Given the description of an element on the screen output the (x, y) to click on. 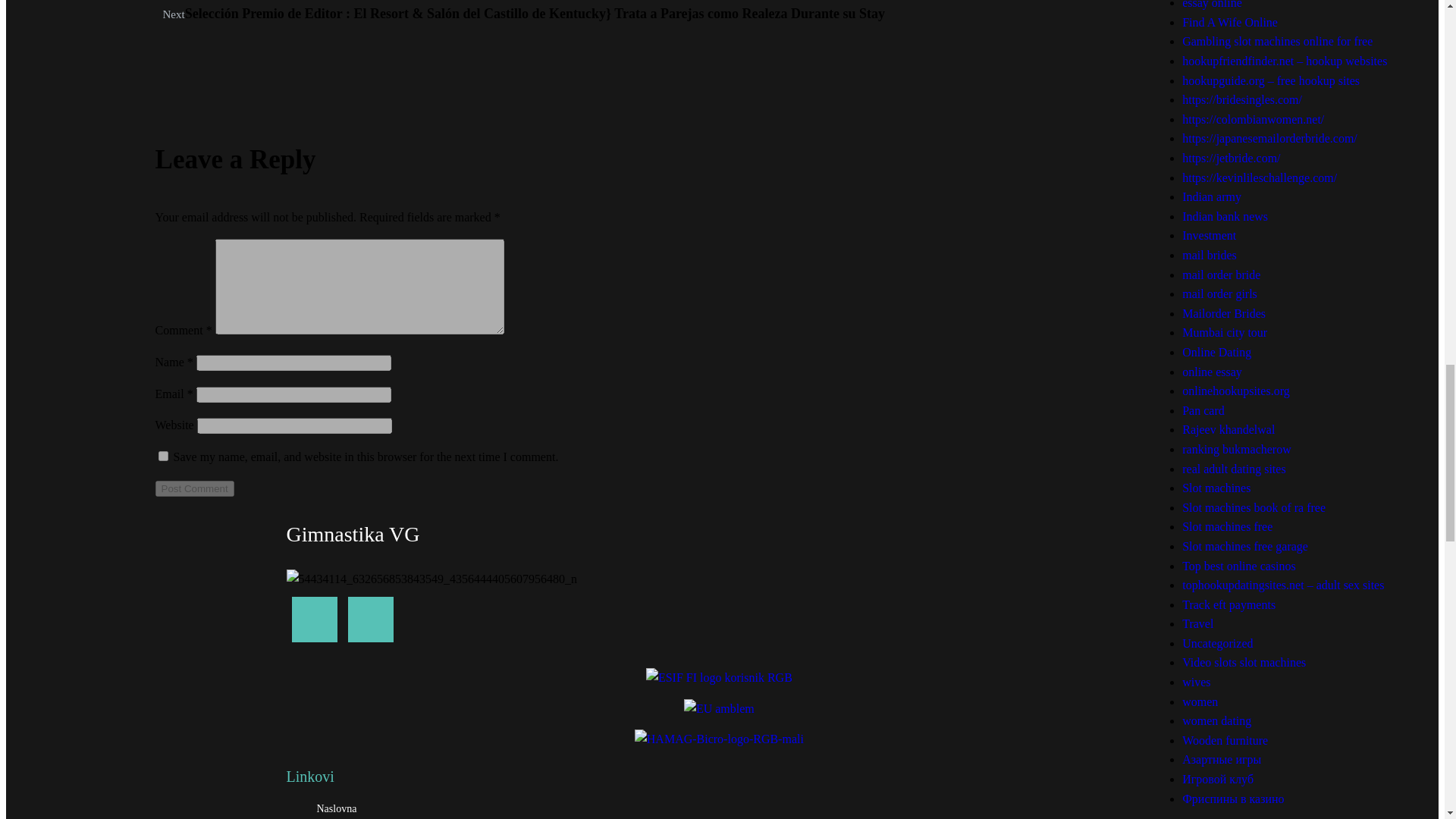
EU amblem (719, 709)
ESIF FI logo korisnik RGB (719, 677)
Post Comment (194, 488)
HAMAG-Bicro-logo-RGB-mali (718, 739)
Post Comment (194, 488)
yes (163, 456)
